Given the description of an element on the screen output the (x, y) to click on. 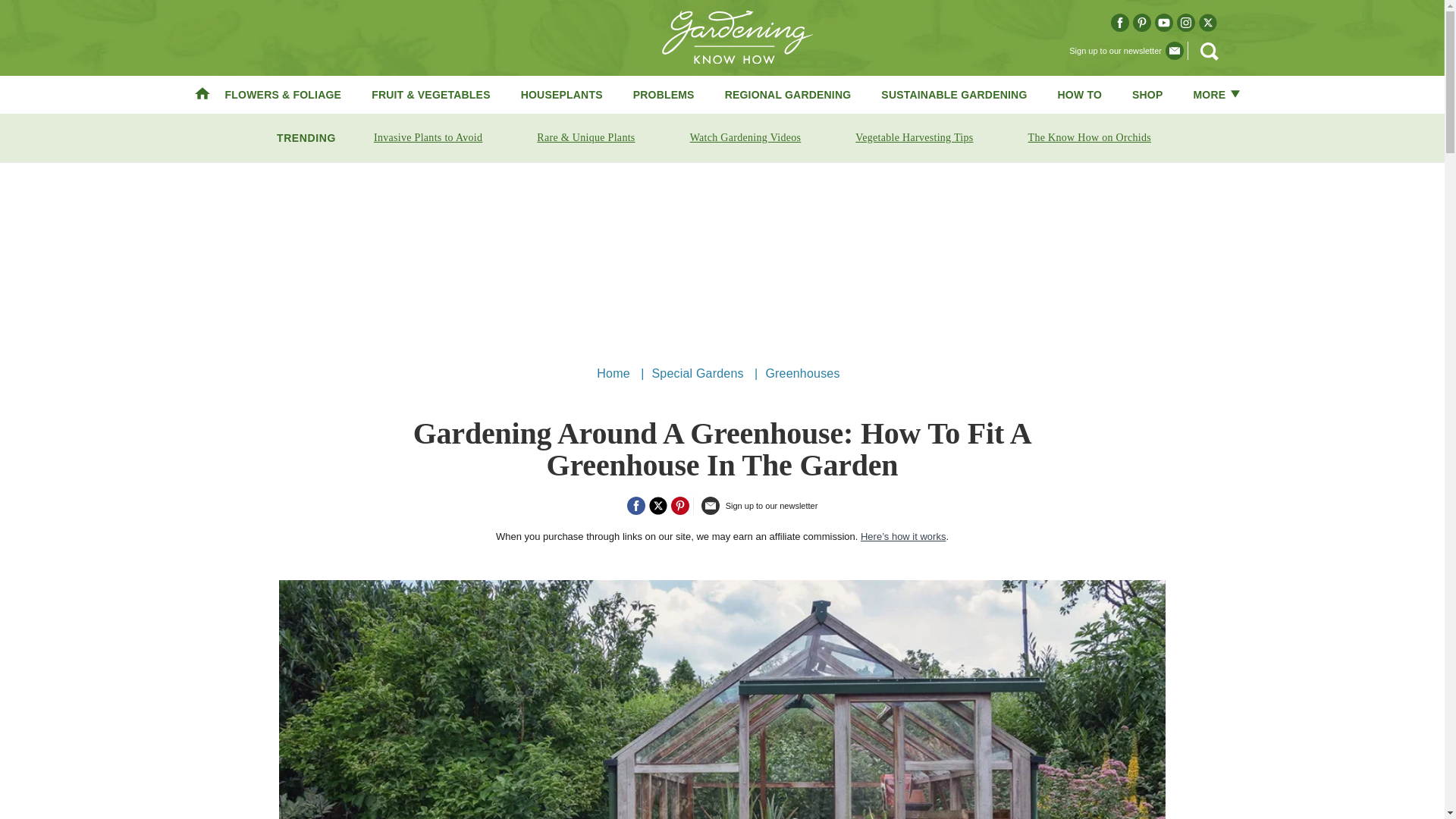
HOUSEPLANTS (561, 94)
REGIONAL GARDENING (788, 94)
PROBLEMS (663, 94)
SUSTAINABLE GARDENING (953, 94)
